Given the description of an element on the screen output the (x, y) to click on. 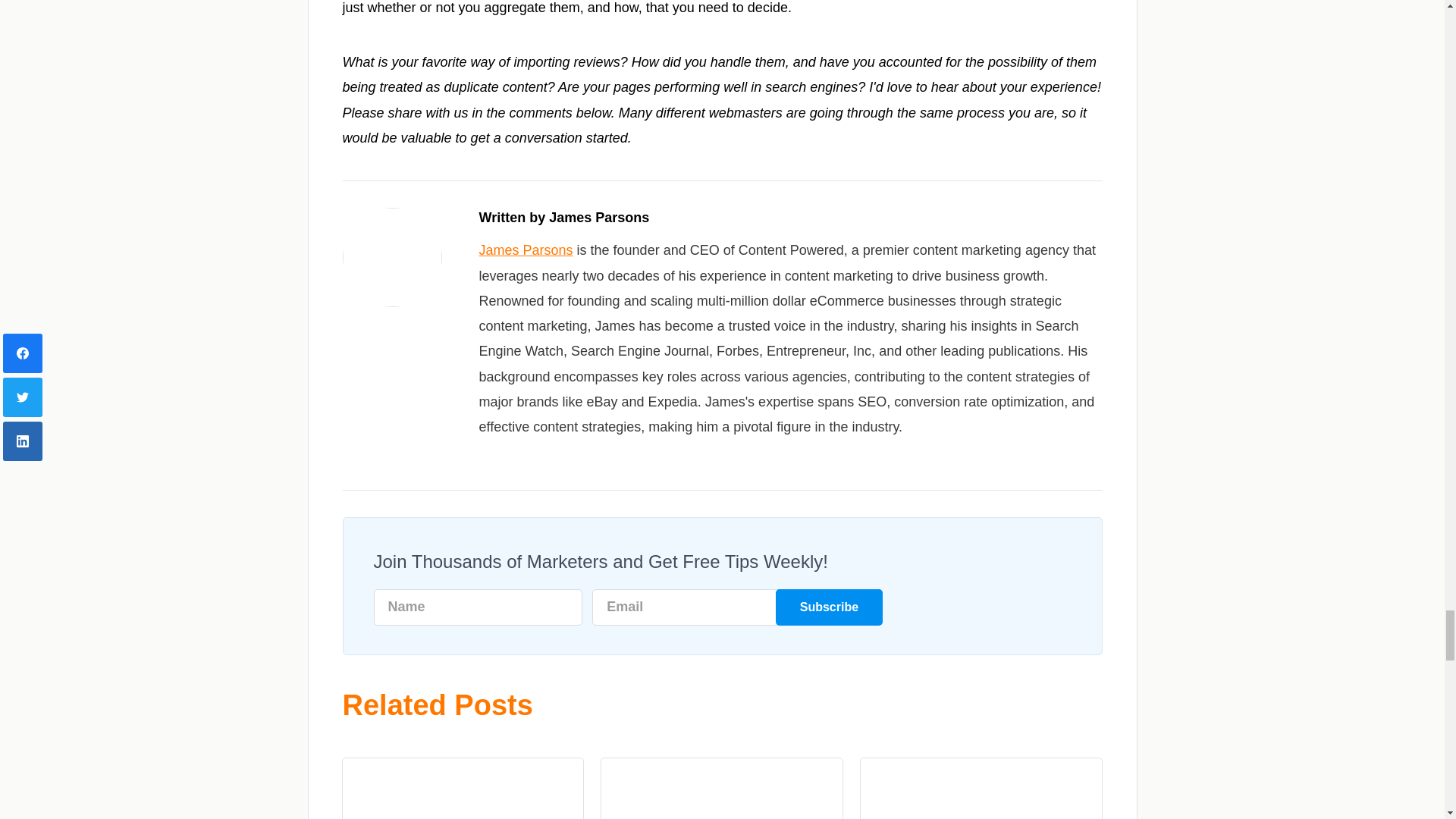
James Parsons on Twitter (509, 455)
James Parsons on LinkedIn (487, 455)
Personal Website of James Parsons (532, 455)
